Given the description of an element on the screen output the (x, y) to click on. 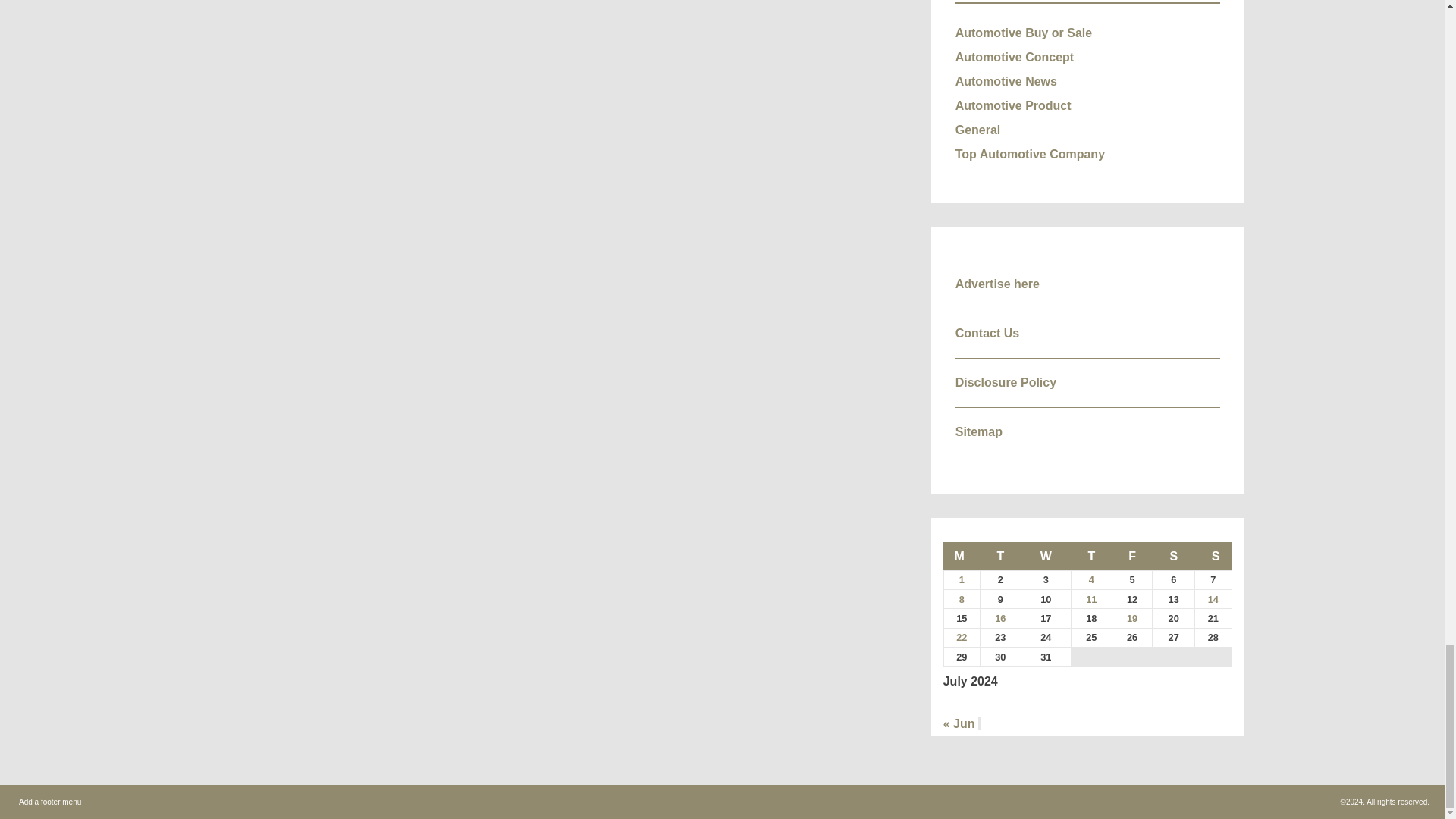
Sunday (1213, 556)
Friday (1132, 556)
Monday (961, 556)
Wednesday (1045, 556)
Saturday (1174, 556)
Tuesday (1000, 556)
Thursday (1091, 556)
